Given the description of an element on the screen output the (x, y) to click on. 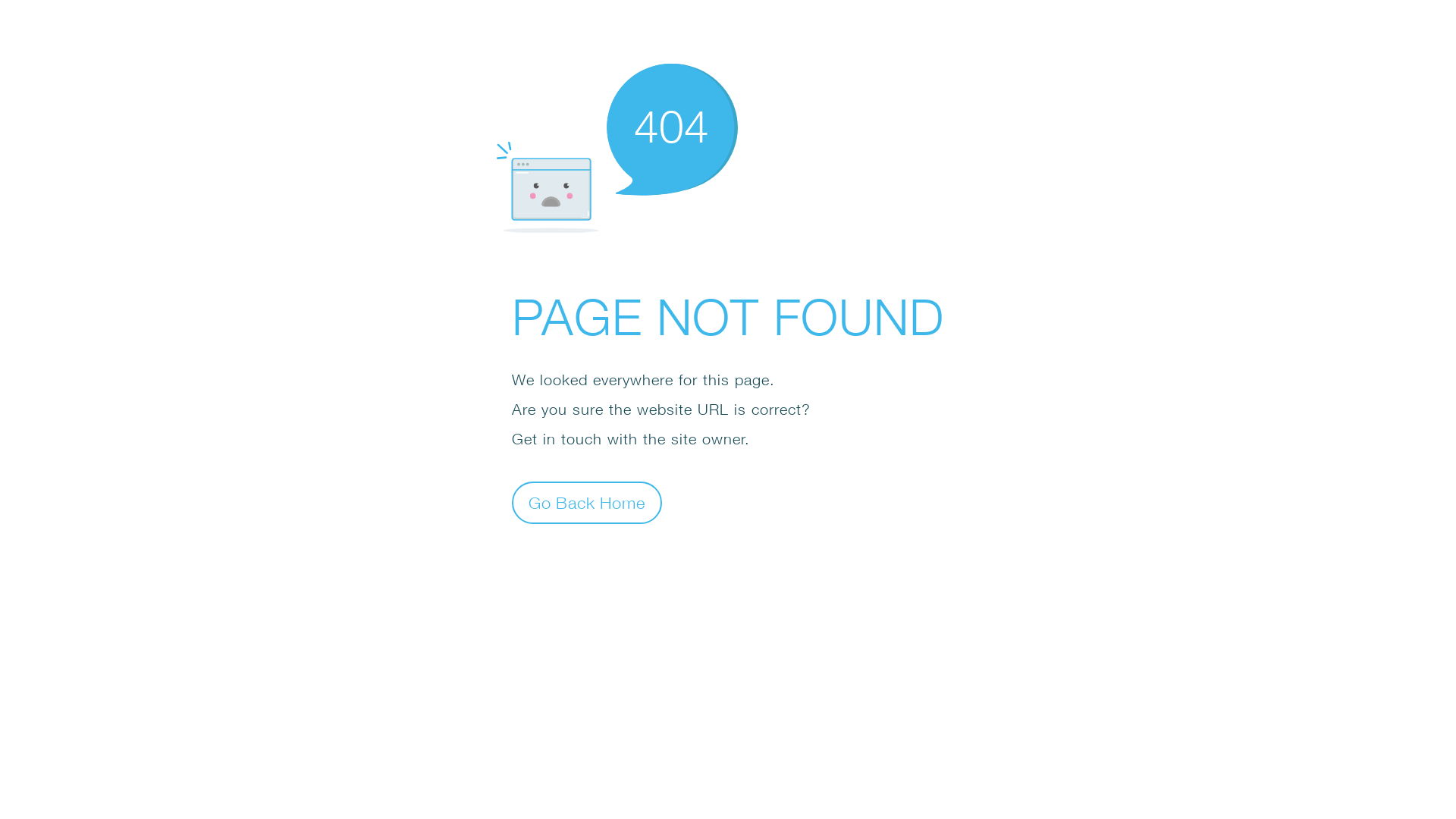
Go Back Home Element type: text (586, 502)
